Given the description of an element on the screen output the (x, y) to click on. 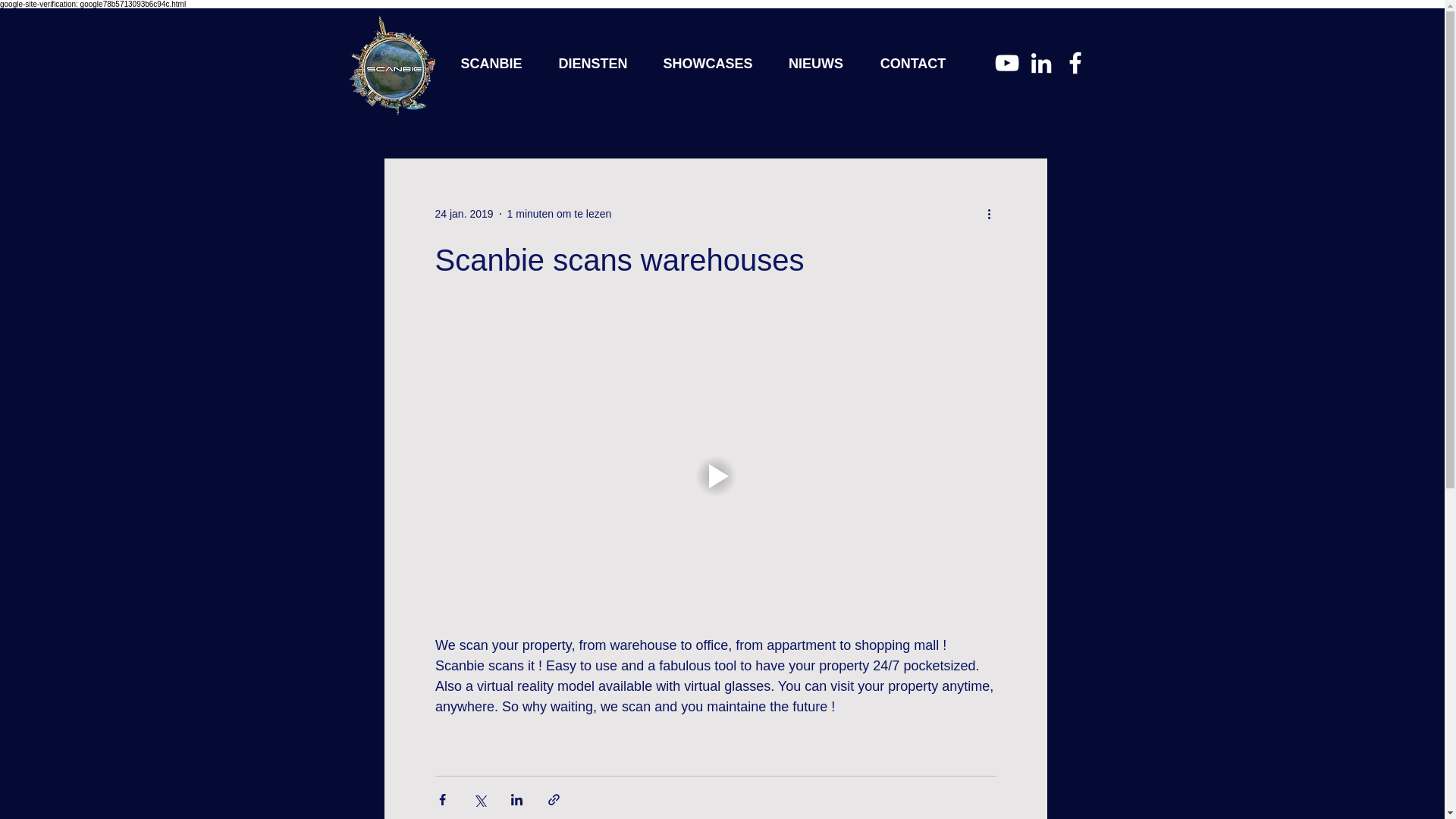
DIENSTEN (593, 63)
SHOWCASES (708, 63)
CONTACT (911, 63)
24 jan. 2019 (464, 214)
1 minuten om te lezen (558, 214)
SCANBIE (490, 63)
NIEUWS (814, 63)
